Given the description of an element on the screen output the (x, y) to click on. 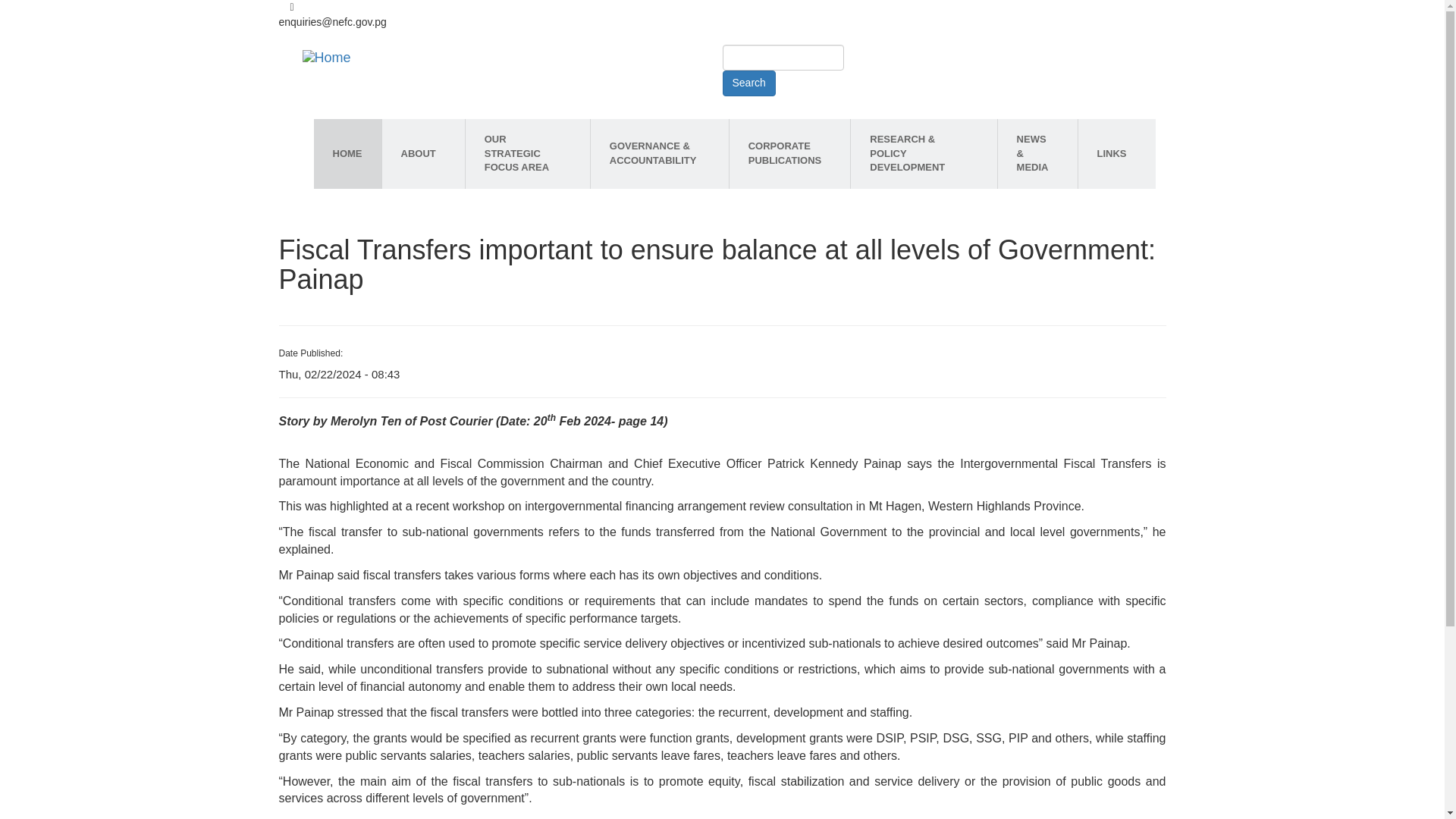
HOME (347, 153)
OUR STRATEGIC FOCUS AREA (527, 153)
CORPORATE PUBLICATIONS (789, 153)
Home (326, 57)
Search (748, 83)
ABOUT (422, 153)
Enter the terms you wish to search for. (782, 57)
